Given the description of an element on the screen output the (x, y) to click on. 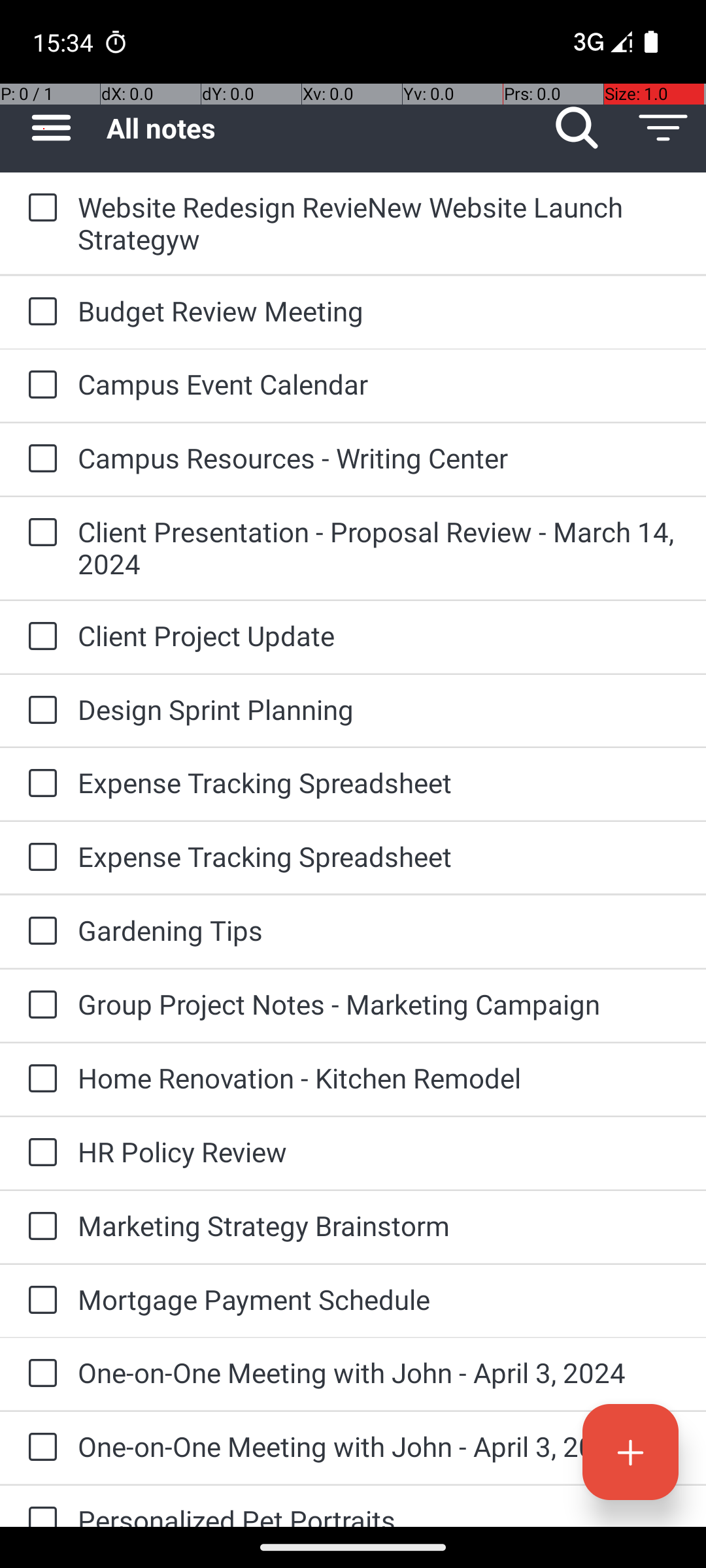
to-do: Website Redesign RevieNew Website Launch Strategyw Element type: android.widget.CheckBox (38, 208)
Website Redesign RevieNew Website Launch Strategyw Element type: android.widget.TextView (378, 222)
to-do: Client Presentation - Proposal Review - March 14, 2024 Element type: android.widget.CheckBox (38, 533)
Client Presentation - Proposal Review - March 14, 2024 Element type: android.widget.TextView (378, 547)
to-do: Personalized Pet Portraits Element type: android.widget.CheckBox (38, 1505)
